Given the description of an element on the screen output the (x, y) to click on. 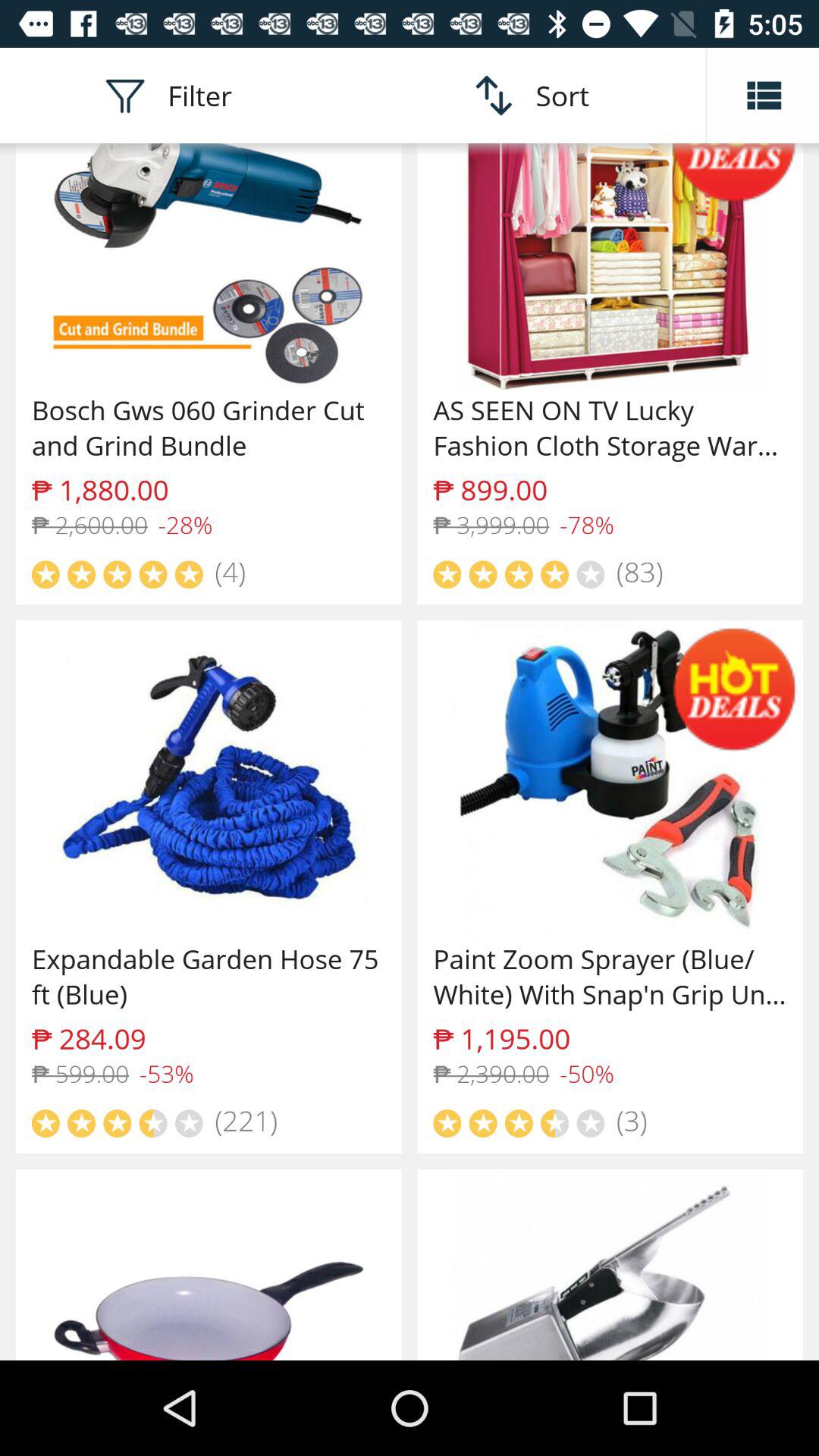
open a menu (763, 95)
